Given the description of an element on the screen output the (x, y) to click on. 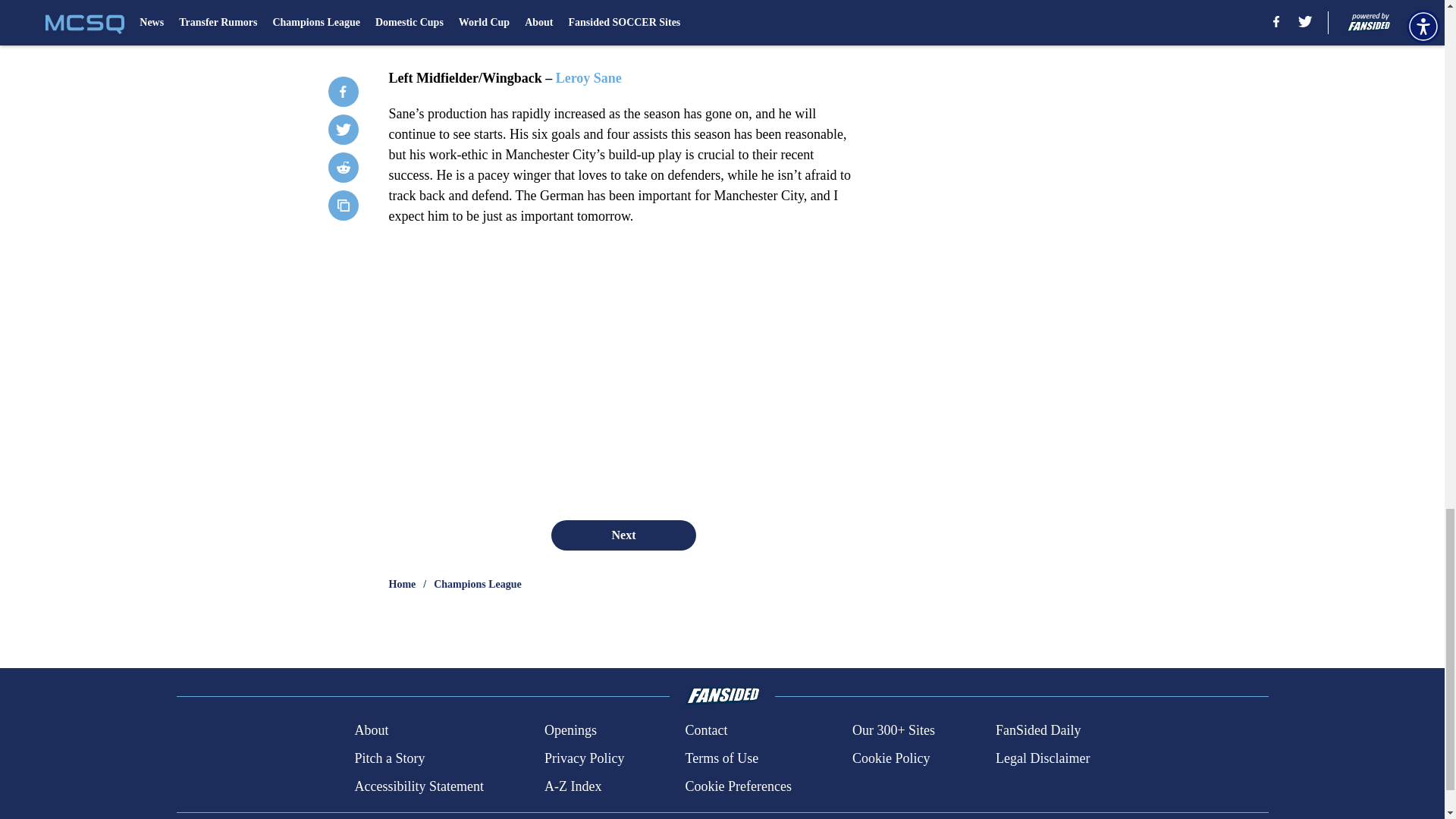
Cookie Policy (890, 758)
Pitch a Story (389, 758)
About (370, 730)
Home (401, 584)
Privacy Policy (584, 758)
Next (622, 535)
FanSided Daily (1038, 730)
Contact (705, 730)
Leroy Sane (588, 77)
Legal Disclaimer (1042, 758)
